Given the description of an element on the screen output the (x, y) to click on. 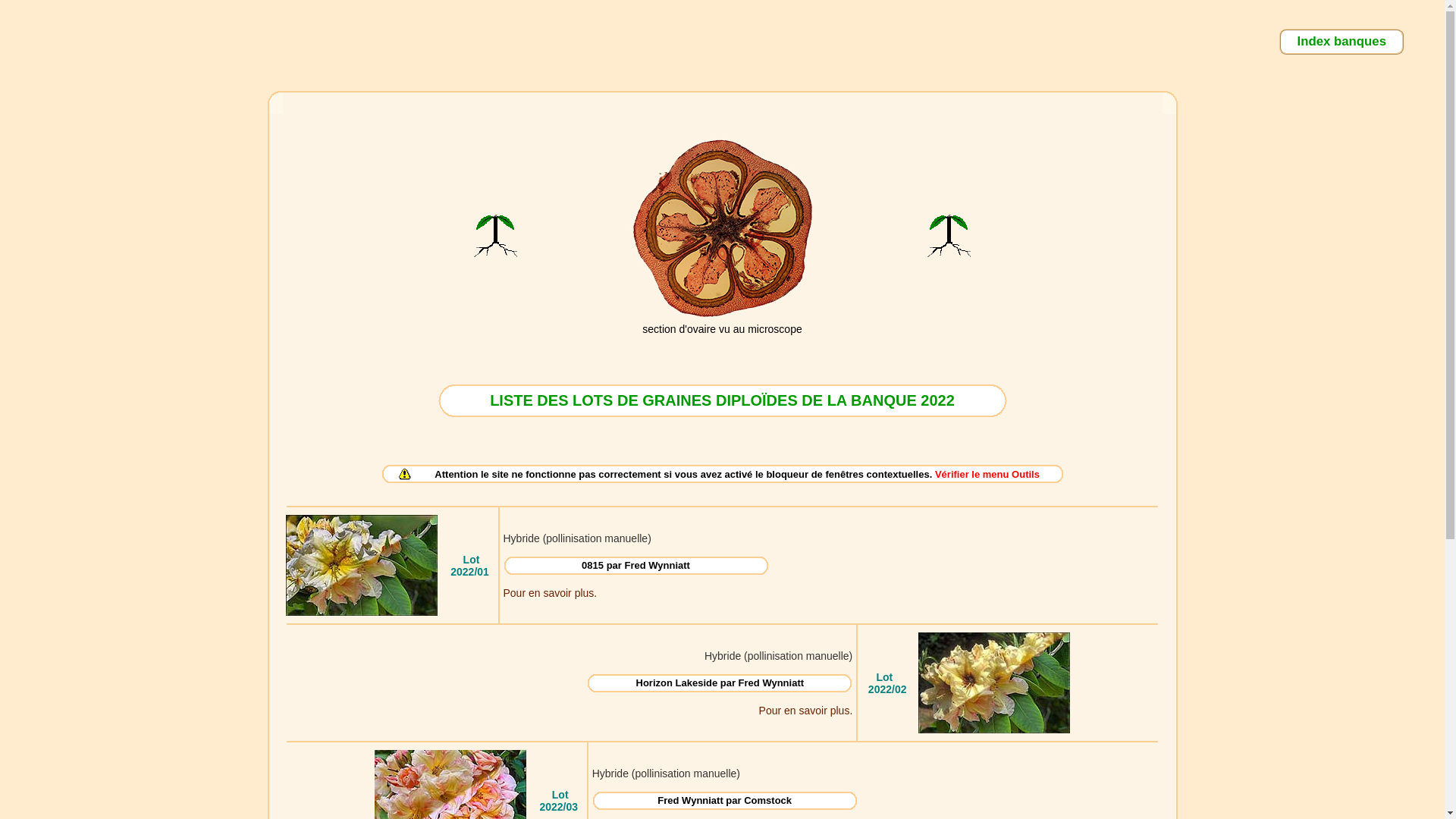
Pour en savoir plus. Element type: text (806, 709)
Index banques Element type: text (1341, 41)
Pour en savoir plus. Element type: text (550, 592)
